Given the description of an element on the screen output the (x, y) to click on. 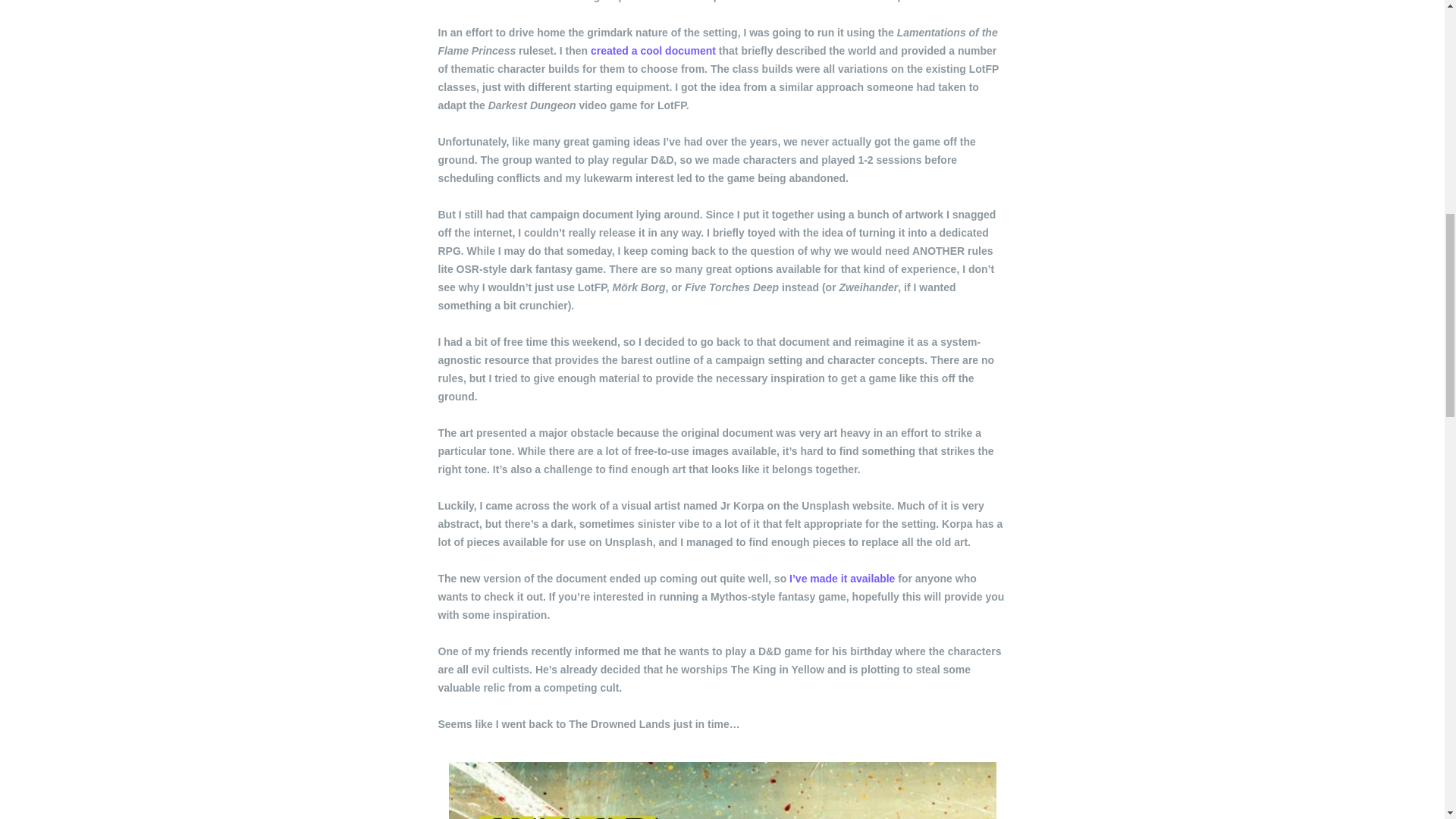
created a cool document (653, 50)
